Given the description of an element on the screen output the (x, y) to click on. 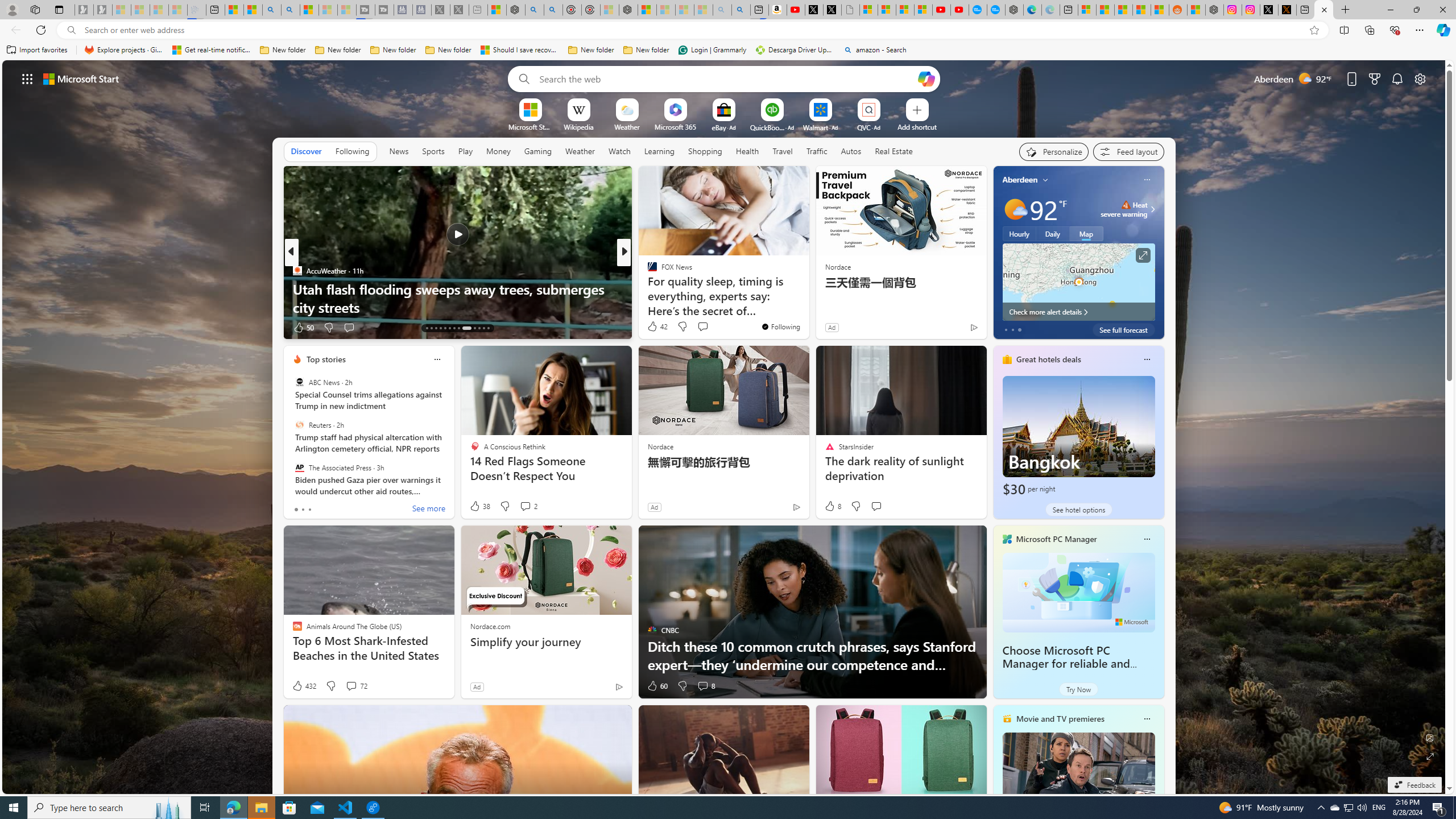
Heat - Severe (1126, 204)
Weather (580, 151)
79 Like (652, 327)
Nordace - Nordace has arrived Hong Kong (1013, 9)
Import favorites (36, 49)
Health (746, 151)
amazon - Search - Sleeping (721, 9)
Sports (432, 151)
hotels-header-icon (1006, 358)
help.x.com | 524: A timeout occurred (1287, 9)
Notifications (1397, 78)
Dislike (682, 685)
